Given the description of an element on the screen output the (x, y) to click on. 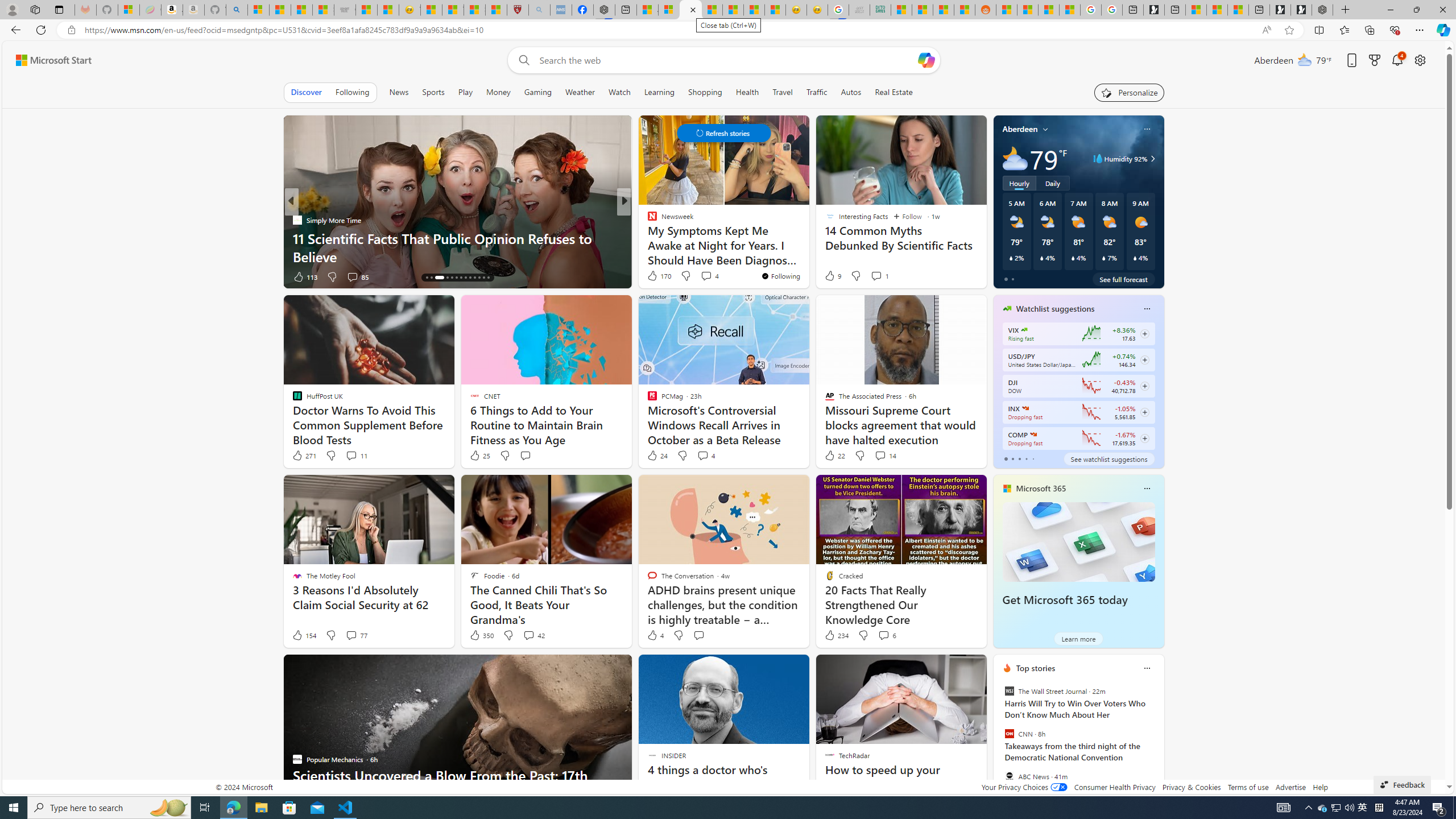
View comments 77 Comment (350, 635)
Learning (658, 92)
Travel (782, 92)
720 Like (654, 276)
Top stories (1035, 668)
271 Like (303, 455)
Hourly (1018, 183)
25 Like (479, 455)
View comments 73 Comment (703, 276)
